Given the description of an element on the screen output the (x, y) to click on. 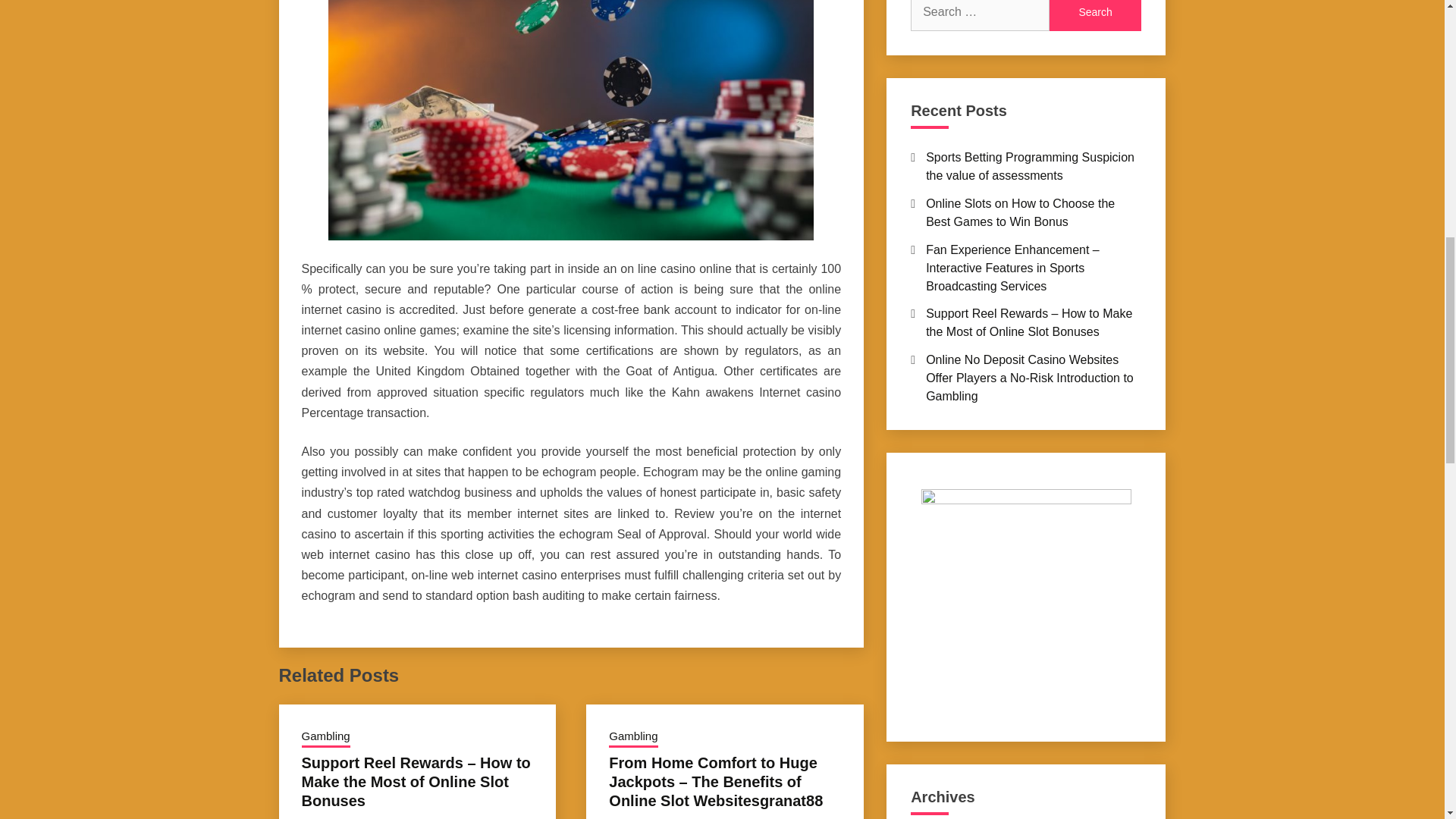
Search (1095, 15)
Gambling (325, 737)
Search (1095, 15)
Search (1095, 15)
Gambling (633, 737)
